Given the description of an element on the screen output the (x, y) to click on. 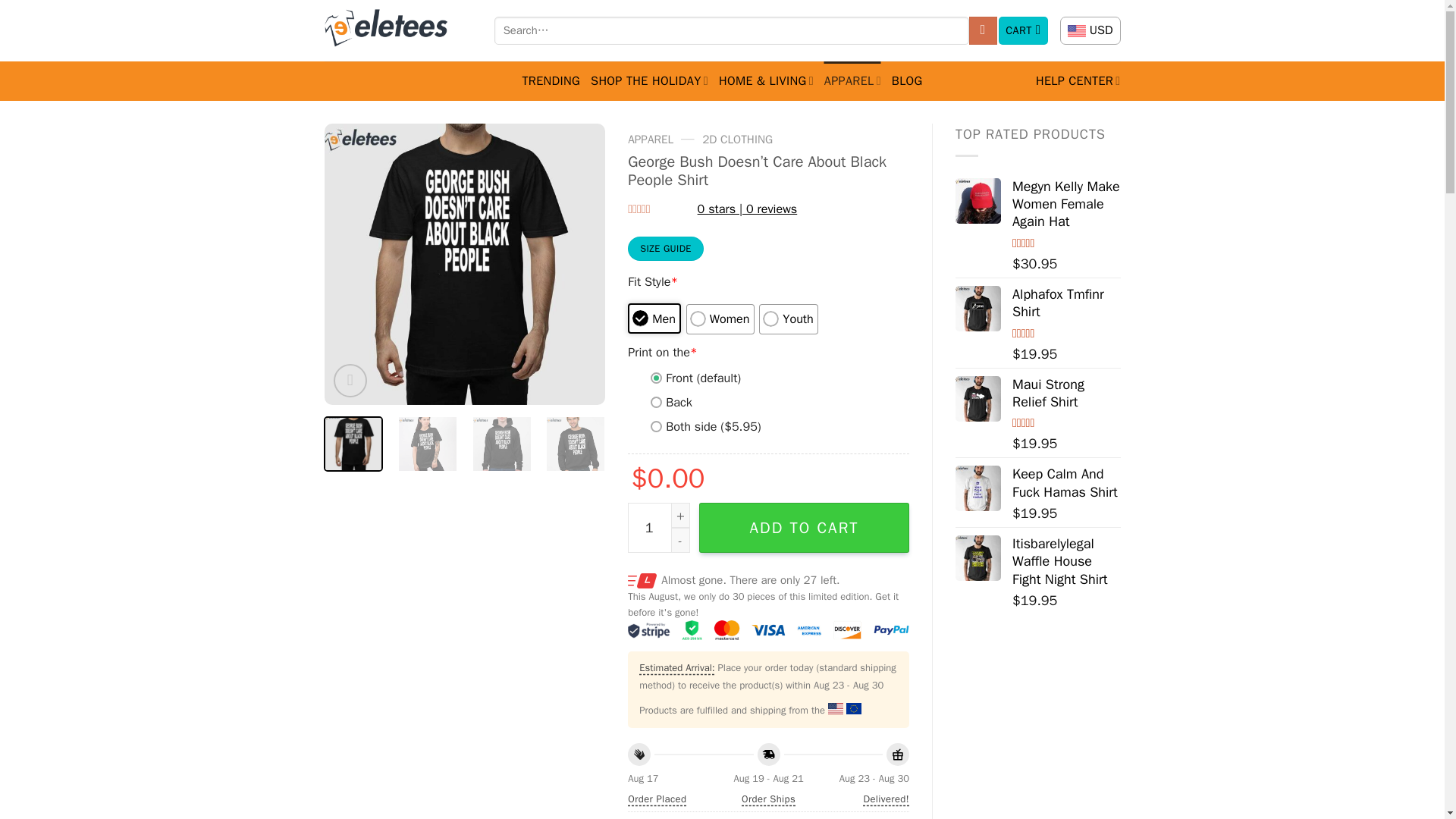
Maui Strong Relief Shirt (978, 398)
APPAREL (852, 80)
Search (983, 30)
HELP CENTER (1078, 80)
CART (1023, 30)
Eletees - Clothes that make a statement (397, 30)
Megyn Kelly Make Women Female Again Hat (978, 200)
Keep Calm And Fuck Hamas Shirt (978, 488)
Alphafox Tmfinr Shirt (978, 308)
1 (658, 527)
